Given the description of an element on the screen output the (x, y) to click on. 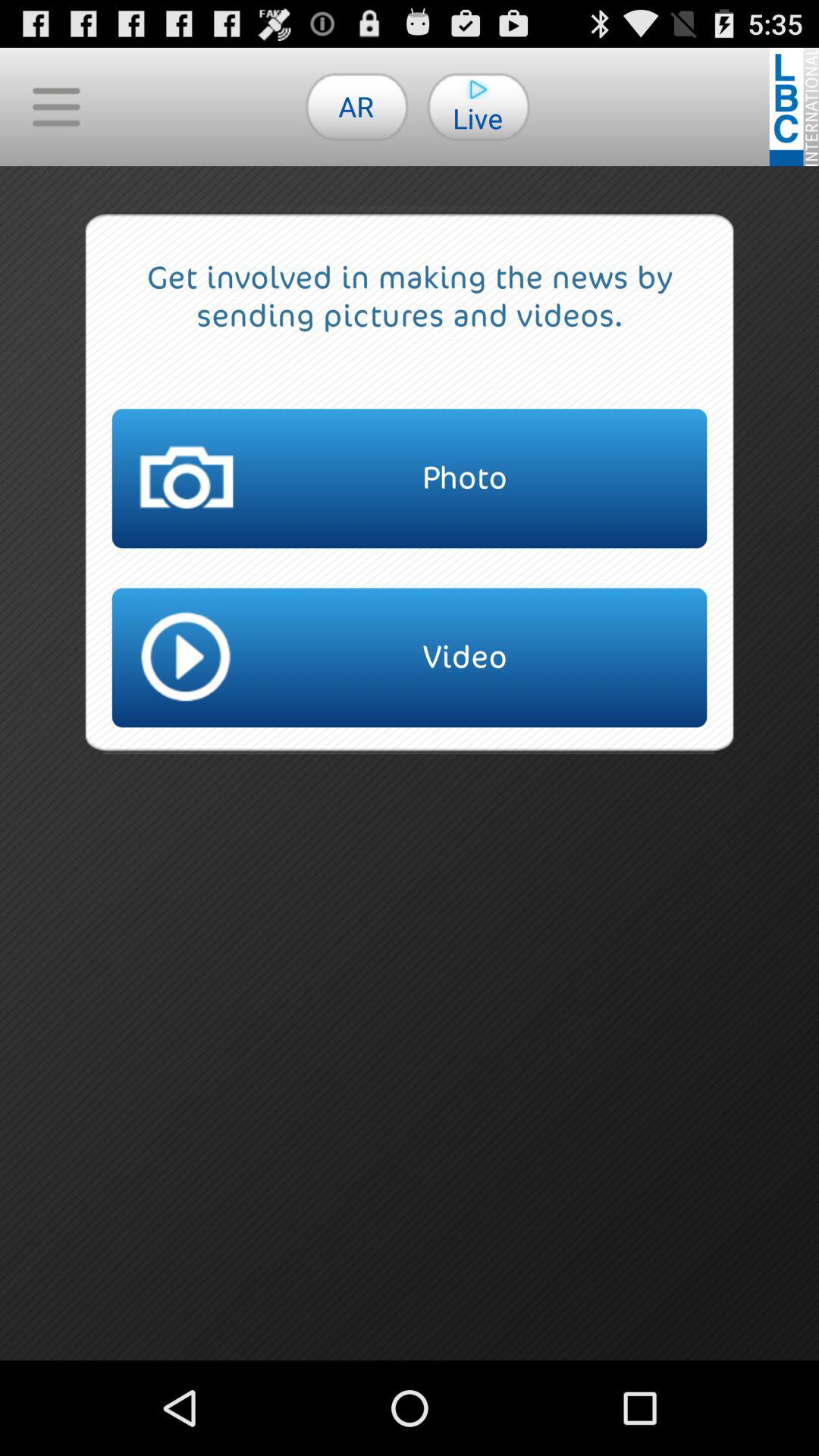
select icon to the left of live app (356, 106)
